Given the description of an element on the screen output the (x, y) to click on. 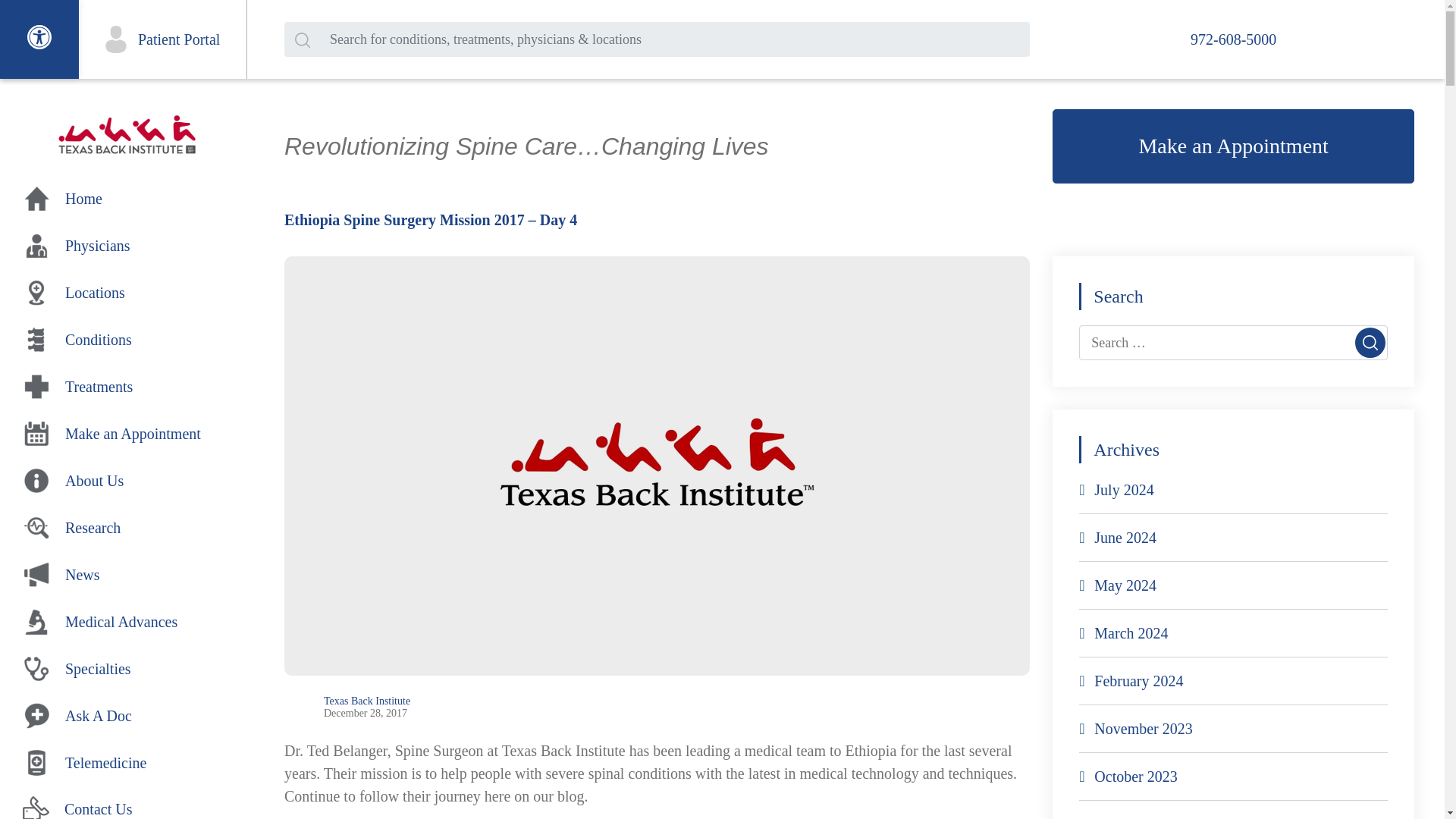
Locations (126, 292)
Contact Us (126, 803)
Telemedicine (126, 762)
June 2024 (1117, 537)
972-608-5000 (1233, 39)
Texas Back Institute (366, 700)
Ask A Doc (126, 715)
Search (1370, 342)
Treatments (126, 386)
February 2024 (1130, 680)
